Given the description of an element on the screen output the (x, y) to click on. 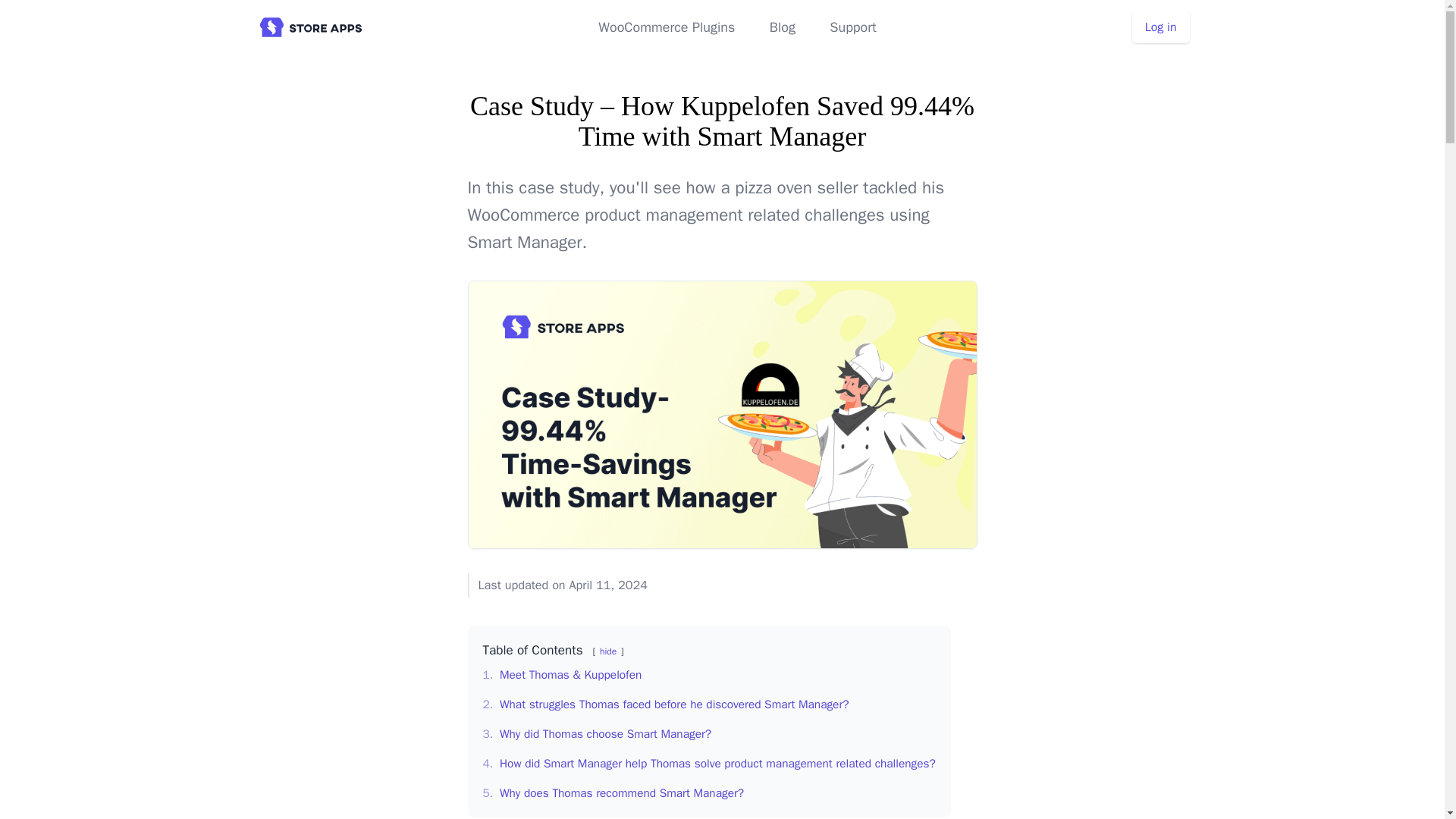
hide (607, 651)
Blog (782, 27)
3. Why did Thomas choose Smart Manager? (596, 734)
WooCommerce Plugins (666, 27)
Support (852, 27)
5. Why does Thomas recommend Smart Manager? (612, 792)
Log in (1160, 27)
